Given the description of an element on the screen output the (x, y) to click on. 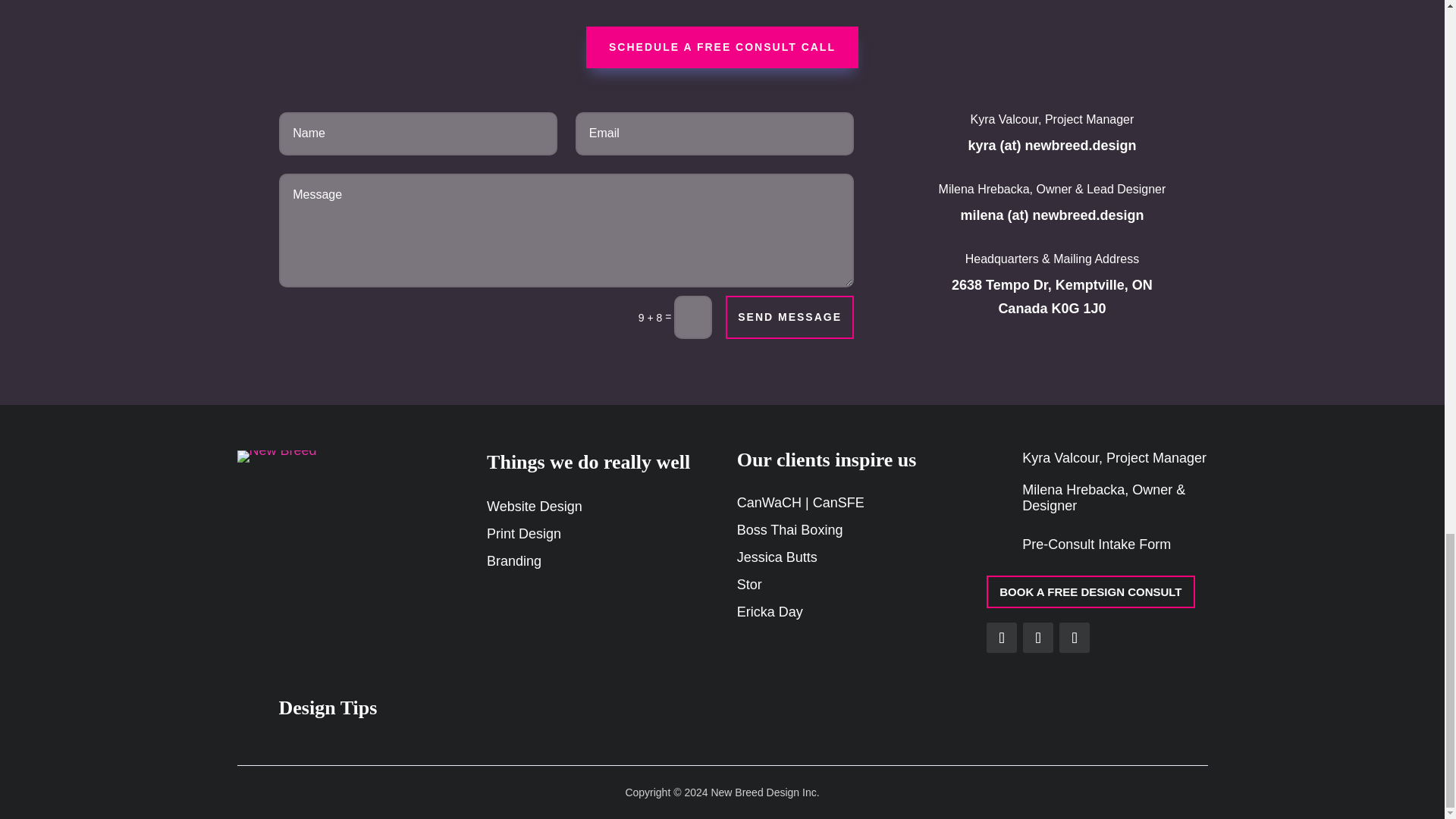
Stor (748, 584)
Ericka Day (769, 611)
Print Design (523, 533)
Kyra Valcour, Project Manager (1114, 458)
Follow on Facebook (1001, 637)
Follow on Youtube (1074, 637)
SEND MESSAGE (789, 317)
Website Design (534, 506)
SCHEDULE A FREE CONSULT CALL (722, 47)
Pre-Consult Intake Form (1096, 544)
